Given the description of an element on the screen output the (x, y) to click on. 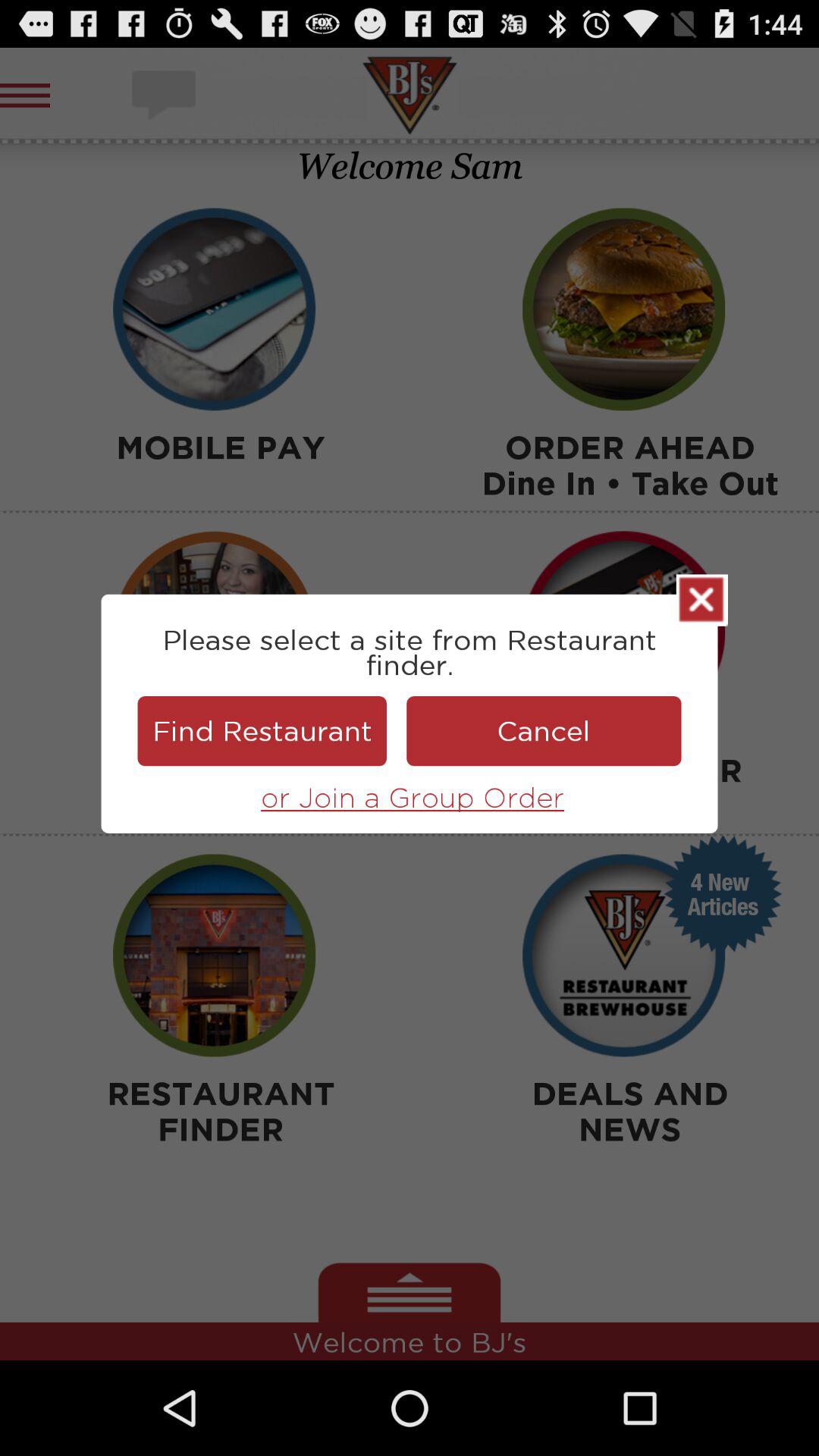
close pop up window (702, 600)
